Given the description of an element on the screen output the (x, y) to click on. 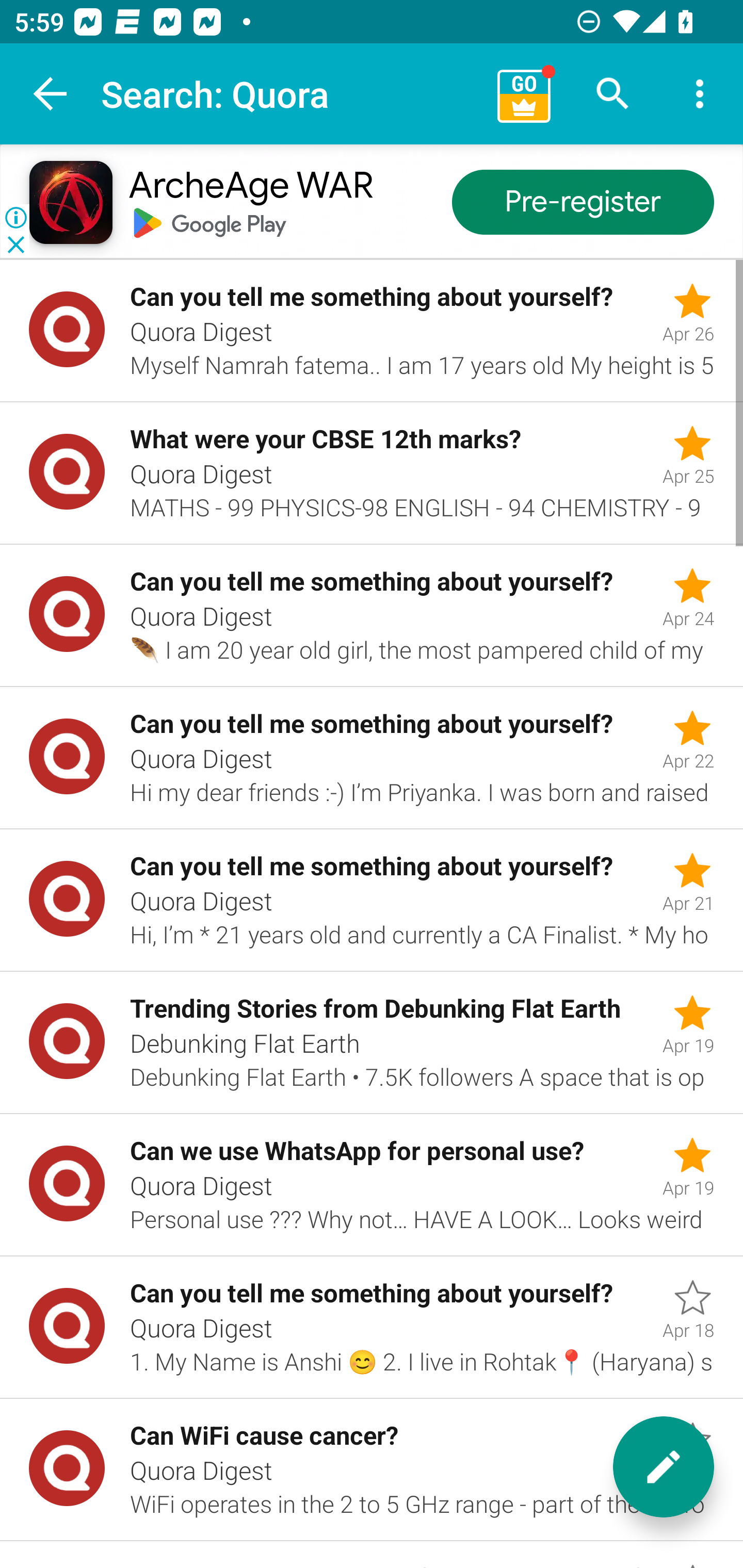
Navigate up (50, 93)
Search (612, 93)
More options (699, 93)
ArcheAge WAR (250, 186)
Pre-register (582, 202)
New message (663, 1466)
